Given the description of an element on the screen output the (x, y) to click on. 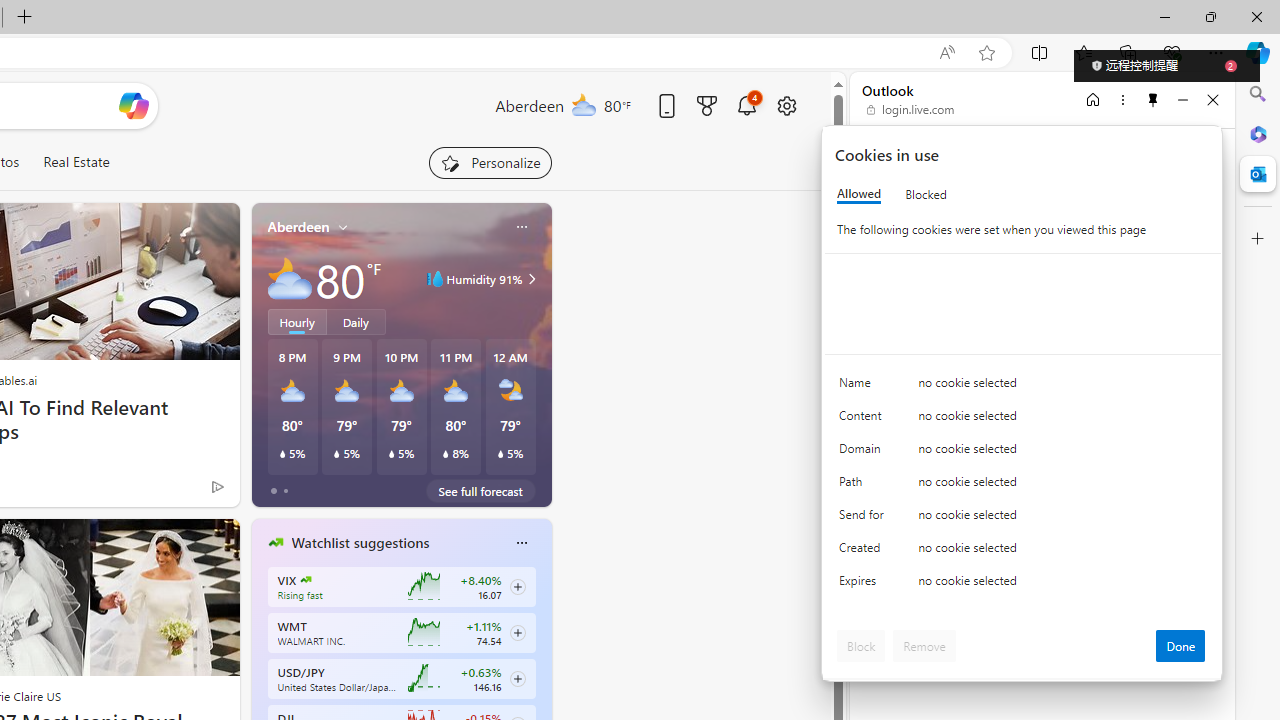
Class: follow-button  m (517, 678)
Daily (356, 321)
CBOE Market Volatility Index (306, 579)
Content (864, 420)
